Given the description of an element on the screen output the (x, y) to click on. 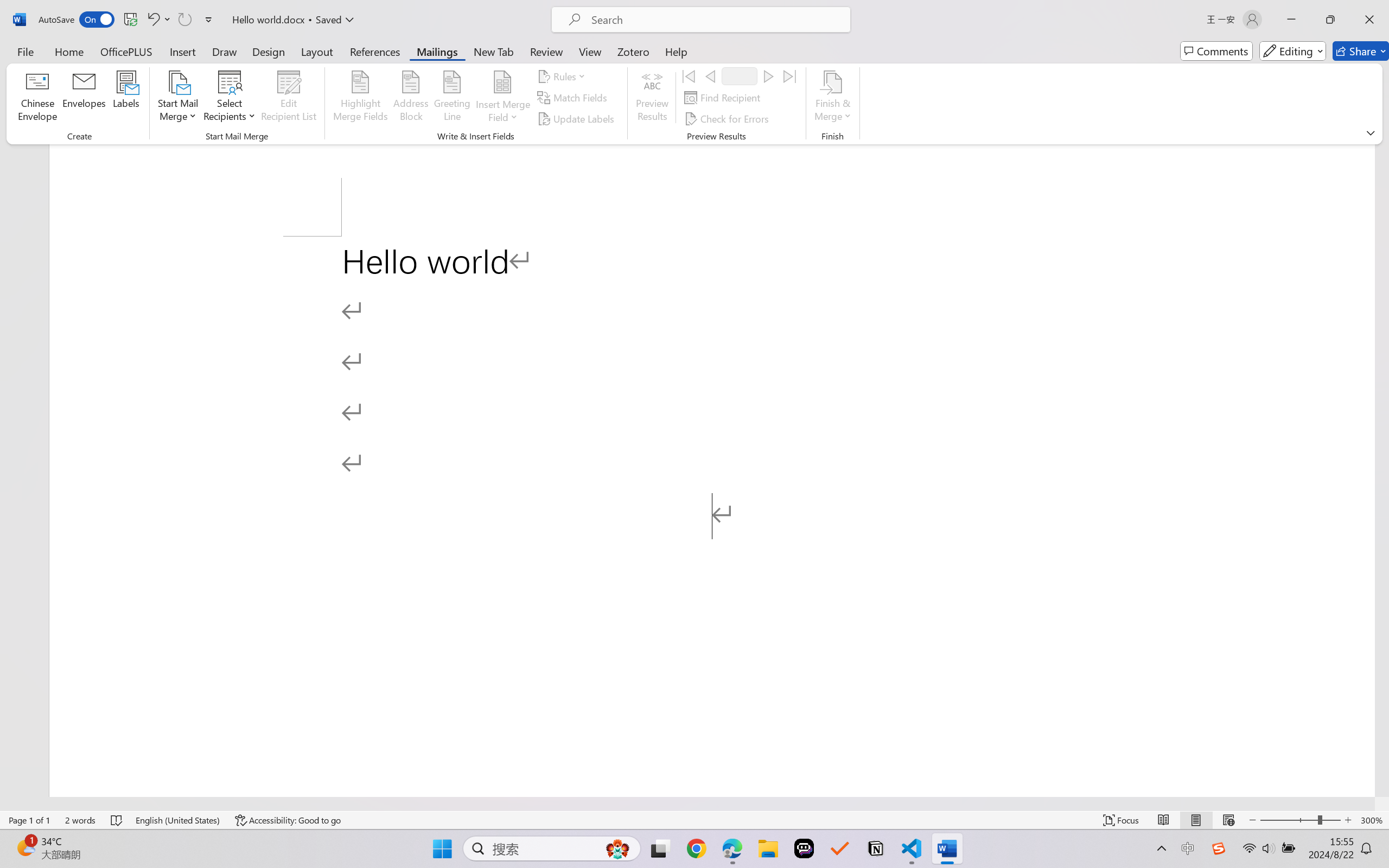
Microsoft search (715, 19)
More Options (502, 112)
AutoSave (76, 19)
Match Fields... (573, 97)
Zoom Out (1288, 819)
Rules (563, 75)
Help (675, 51)
Minimize (1291, 19)
Check for Errors... (728, 118)
Share (1360, 51)
Labels... (126, 97)
Class: NetUIScrollBar (687, 803)
